Given the description of an element on the screen output the (x, y) to click on. 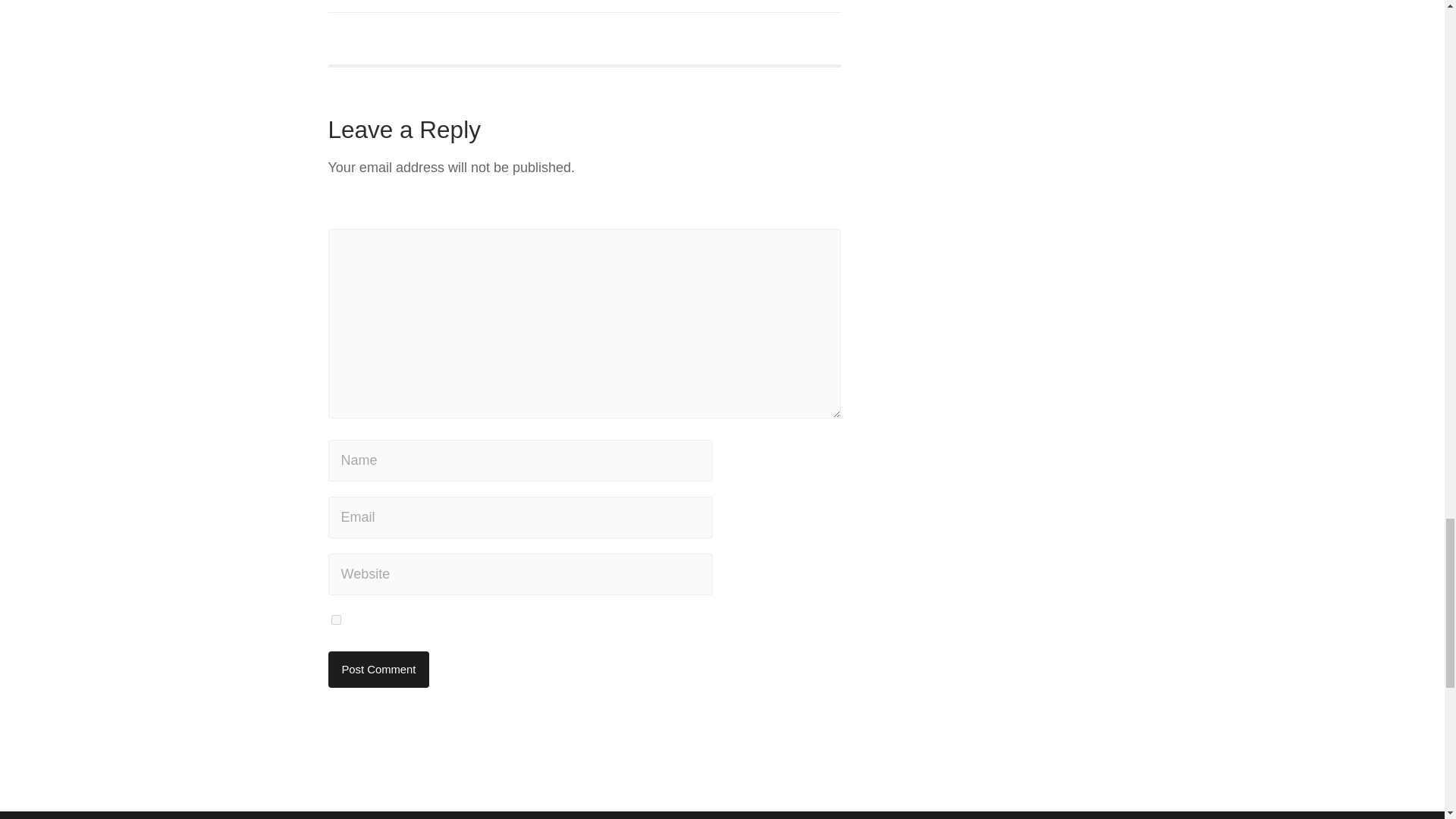
yes (335, 619)
Post Comment (378, 669)
Post Comment (378, 669)
